Given the description of an element on the screen output the (x, y) to click on. 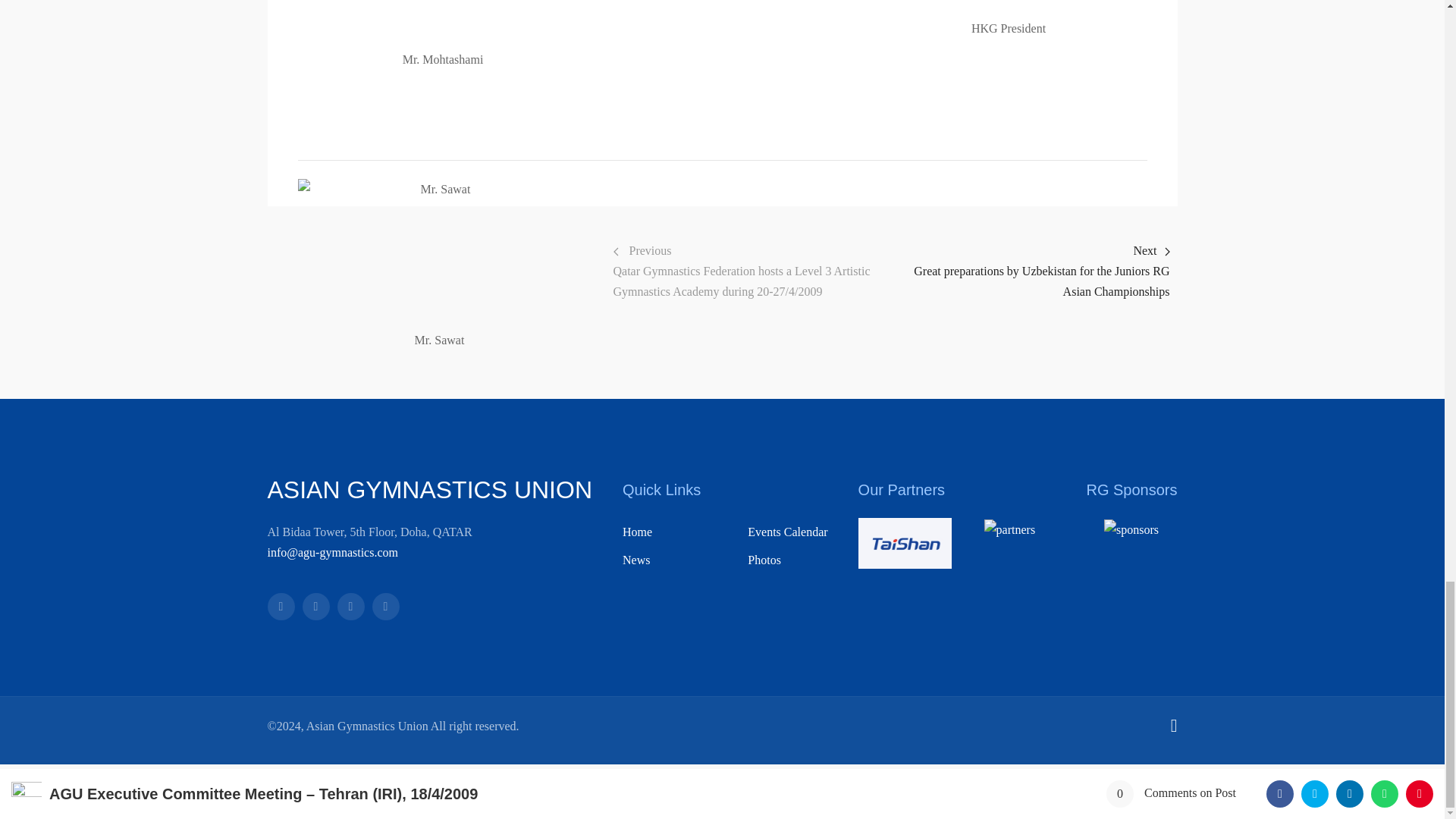
Mr. Sawat (438, 254)
HKG President (1008, 9)
Mr. Mohtashami (442, 24)
